Given the description of an element on the screen output the (x, y) to click on. 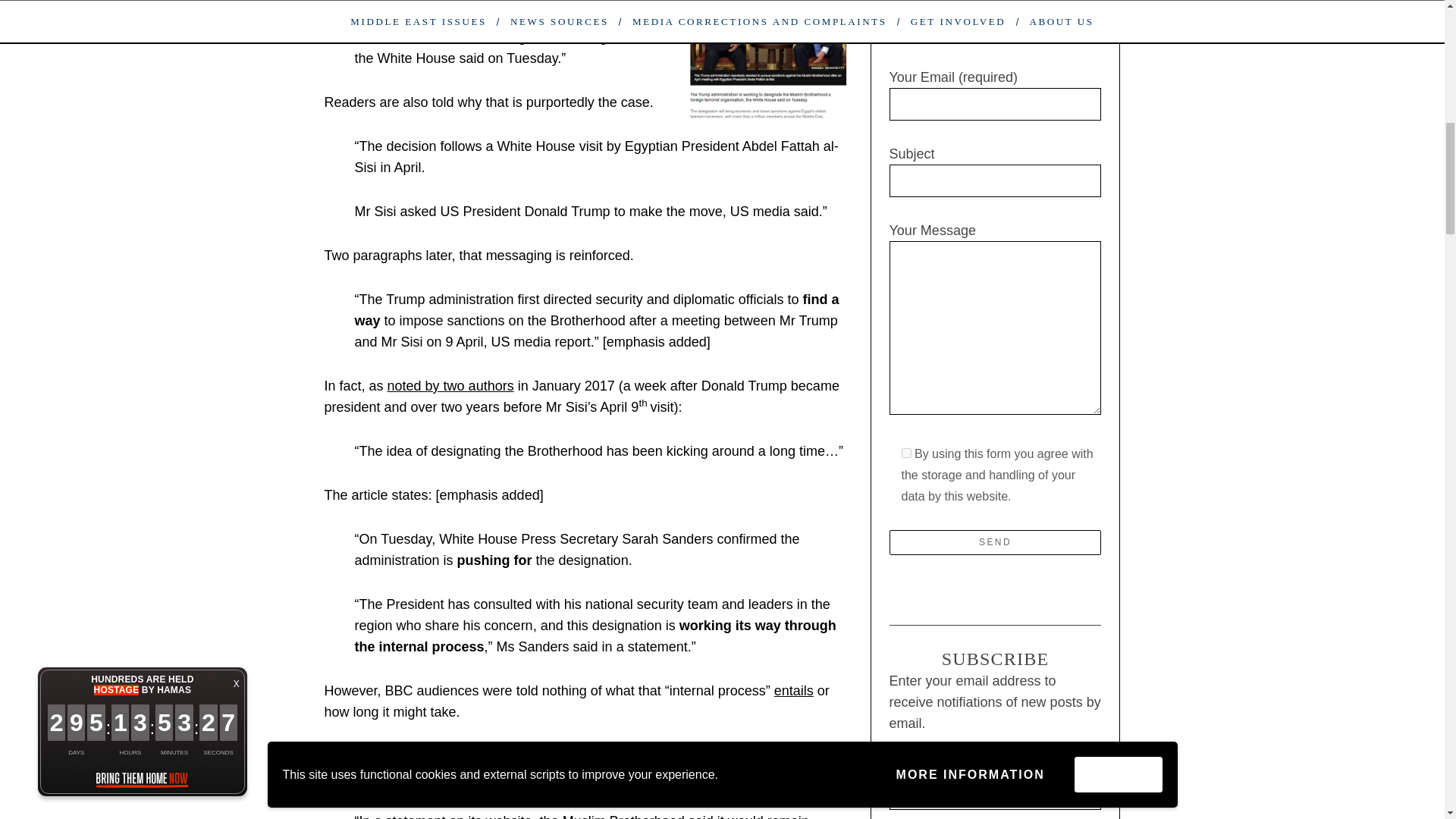
entails (793, 690)
noted by two authors (450, 385)
Send (994, 542)
1 (906, 452)
